Given the description of an element on the screen output the (x, y) to click on. 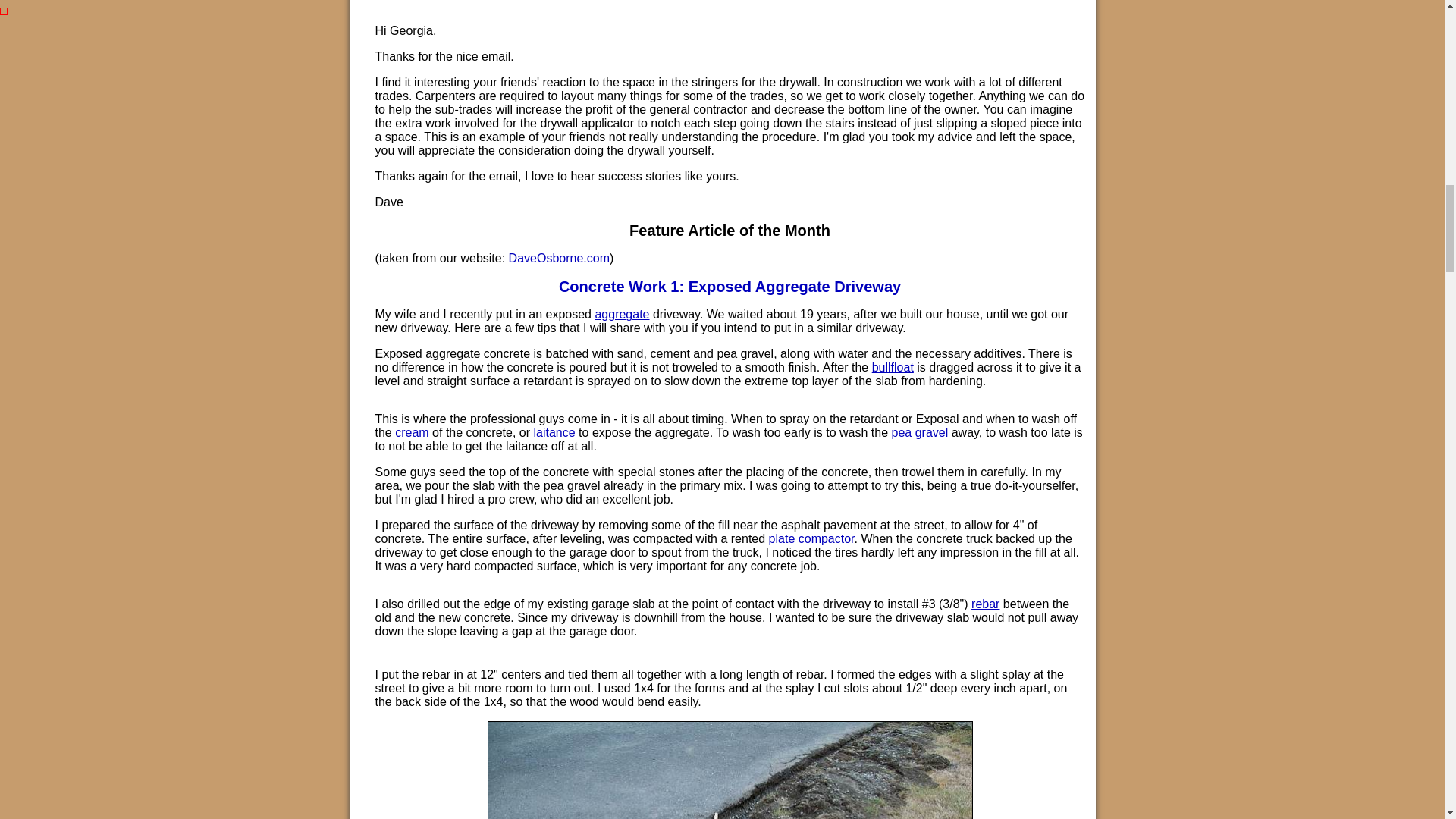
rebar (984, 603)
plate compactor (811, 538)
Home Improvement Tips and Articles (559, 257)
Construction dictionary definition of bullfloat (893, 367)
DaveOsborne.com (559, 257)
cream (411, 431)
bullfloat (893, 367)
laitance (554, 431)
aggregate (621, 314)
Construction dictionary definition of aggregate (621, 314)
